Given the description of an element on the screen output the (x, y) to click on. 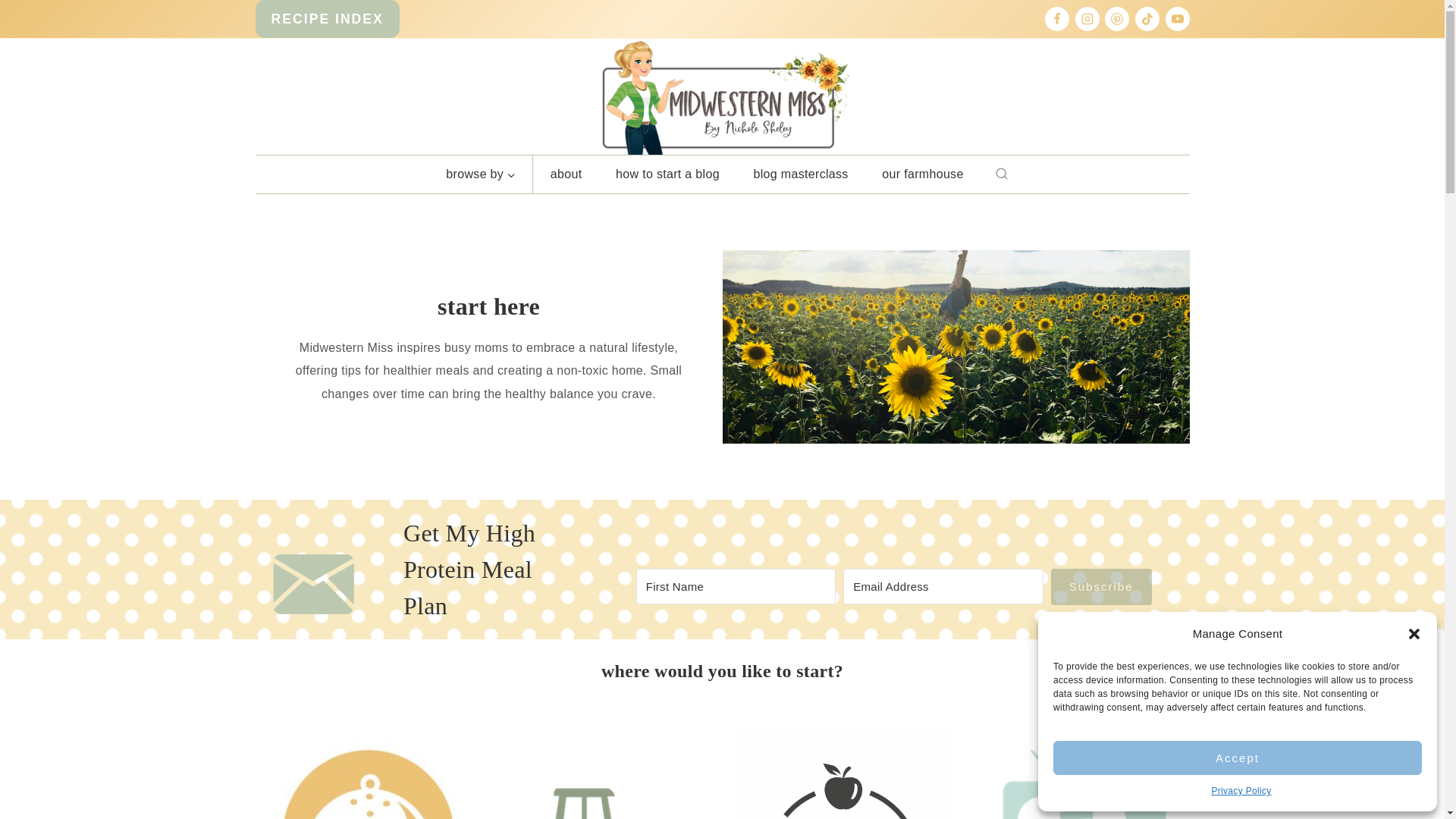
our farmhouse (921, 174)
blog masterclass (800, 174)
Privacy Policy (1241, 791)
about (565, 174)
Accept (1237, 757)
RECIPE INDEX (326, 18)
From Scratch Recipes (362, 773)
how to start a blog (667, 174)
Subscribe (1101, 586)
Farm Life (602, 773)
browse by (480, 174)
